Given the description of an element on the screen output the (x, y) to click on. 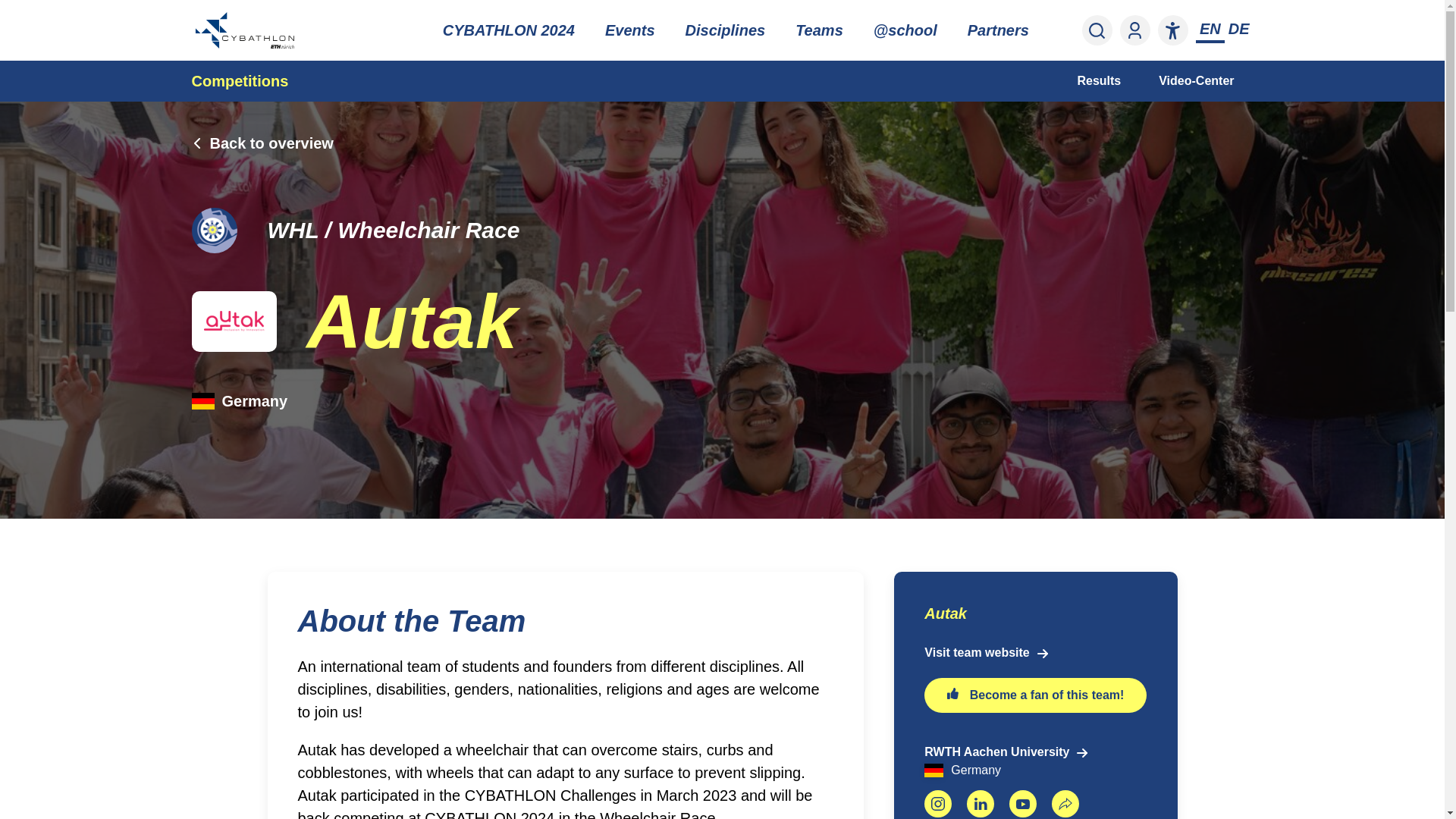
Results (1099, 80)
DE (1238, 28)
EN (1209, 28)
Teams (819, 30)
URL copied to clipboard (1064, 803)
Events (629, 30)
CYBATHLON 2024 (508, 30)
LinkedIn (980, 803)
Video-Center (1196, 80)
Disciplines (724, 30)
